Given the description of an element on the screen output the (x, y) to click on. 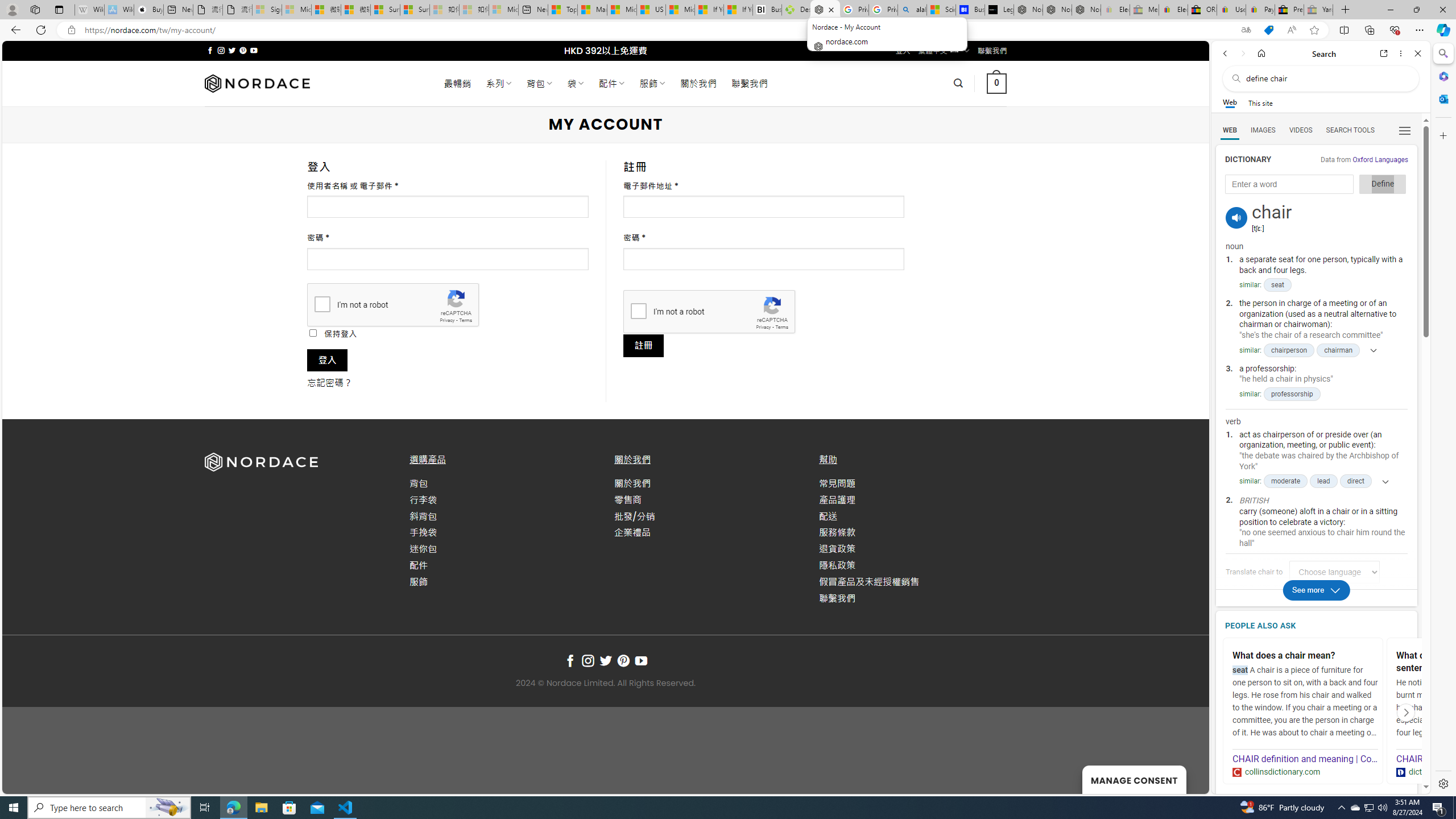
Show more (1381, 480)
seat (1277, 285)
